Given the description of an element on the screen output the (x, y) to click on. 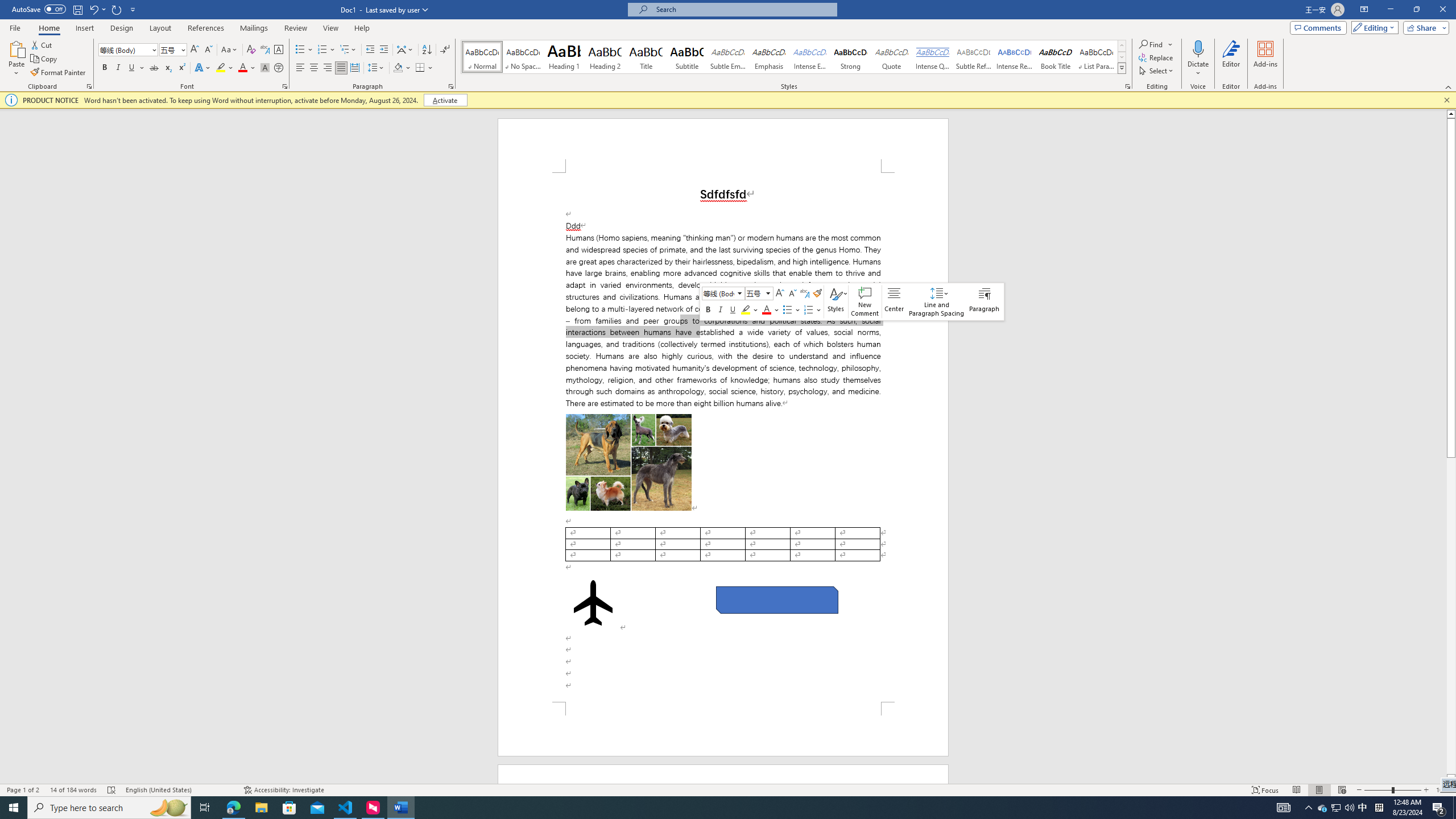
Subtle Emphasis (727, 56)
New Comment (864, 301)
Strong (849, 56)
Class: NetUITextbox (753, 292)
Page Number Page 1 of 2 (22, 790)
